Given the description of an element on the screen output the (x, y) to click on. 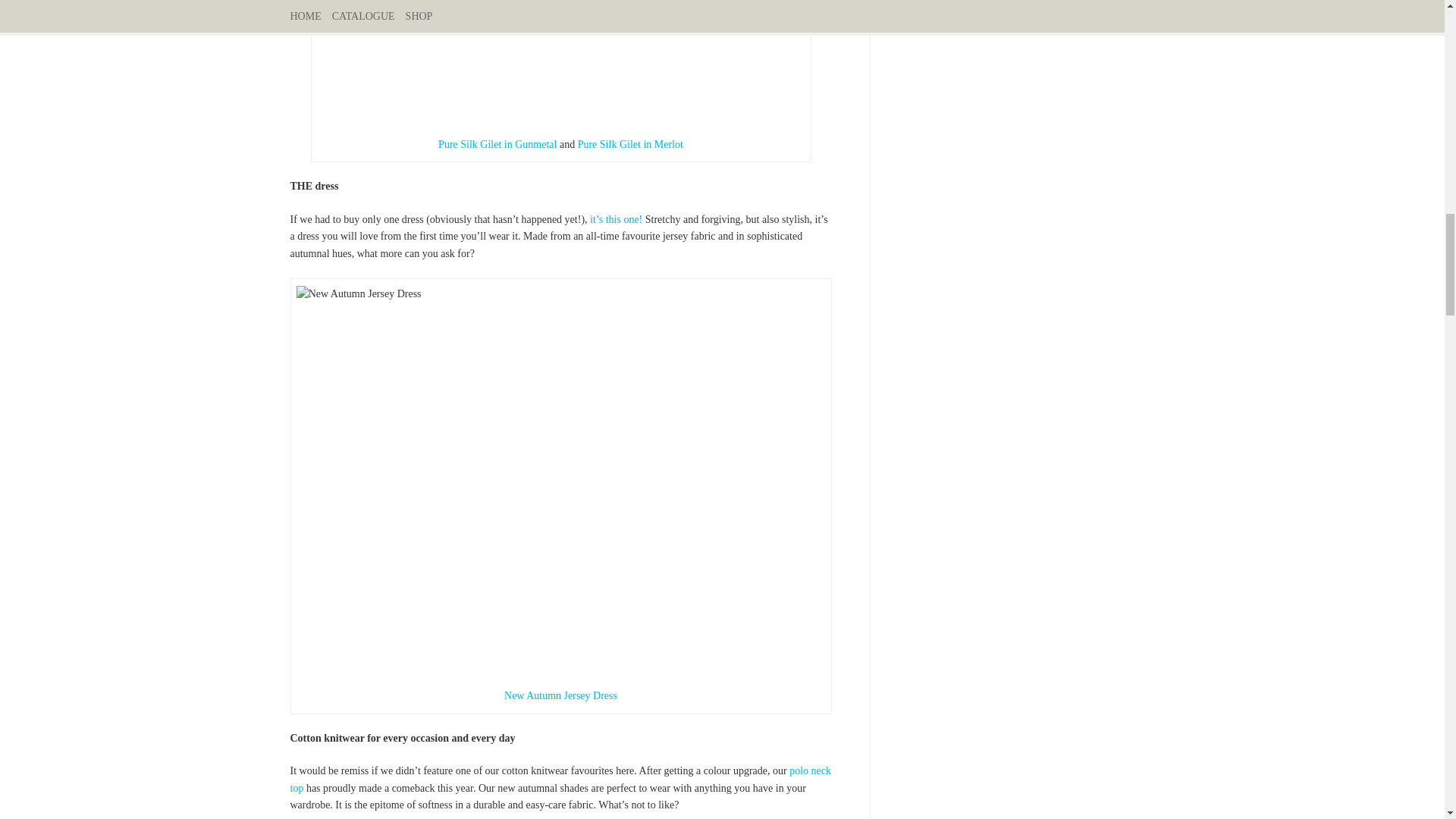
Pure Silk Gilet in Merlot (630, 143)
New Autumn Jersey Dress (560, 695)
polo neck top (560, 778)
Pure Silk Gilet in Gunmetal (497, 143)
